Given the description of an element on the screen output the (x, y) to click on. 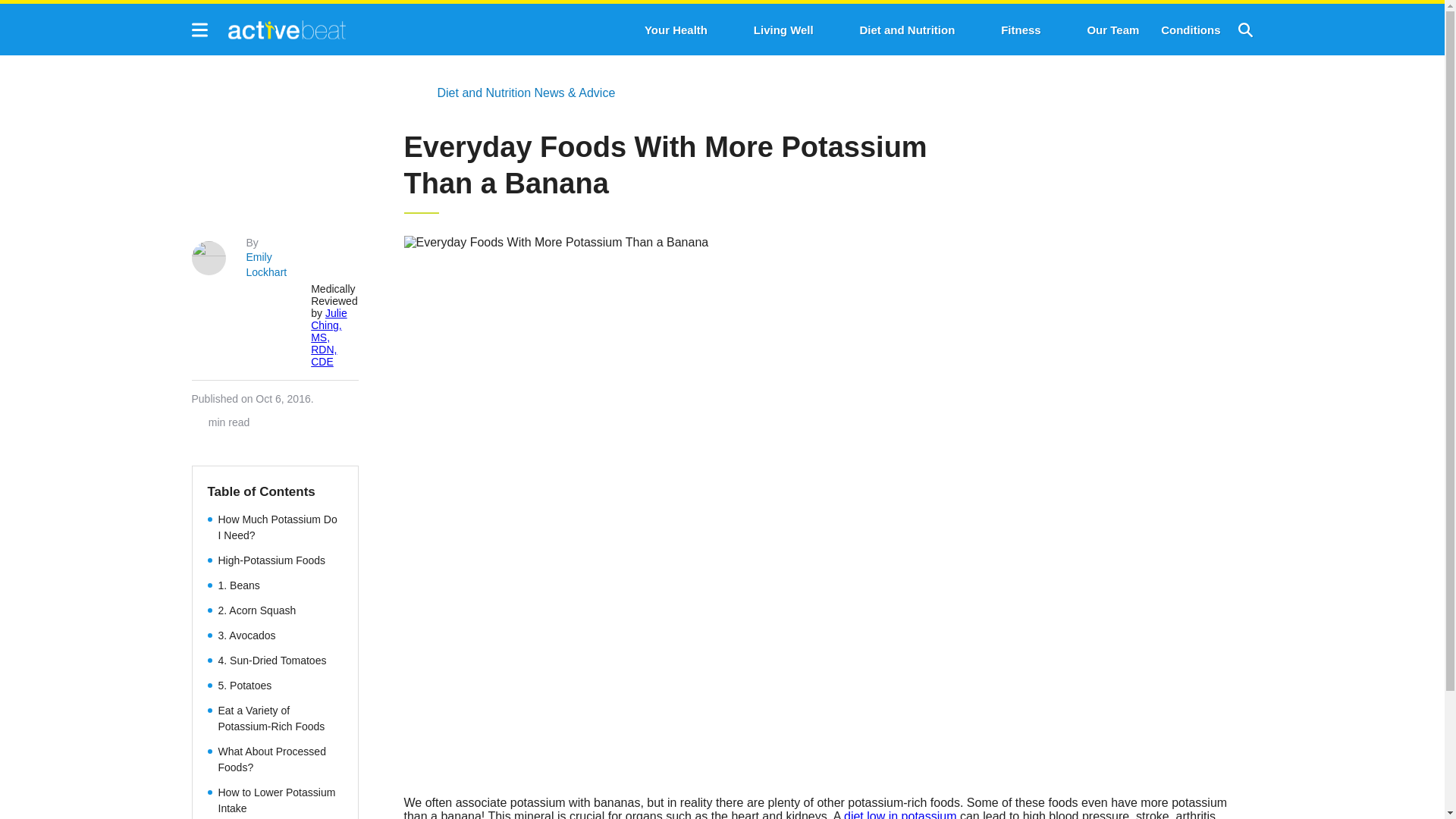
Your Health (676, 29)
